Given the description of an element on the screen output the (x, y) to click on. 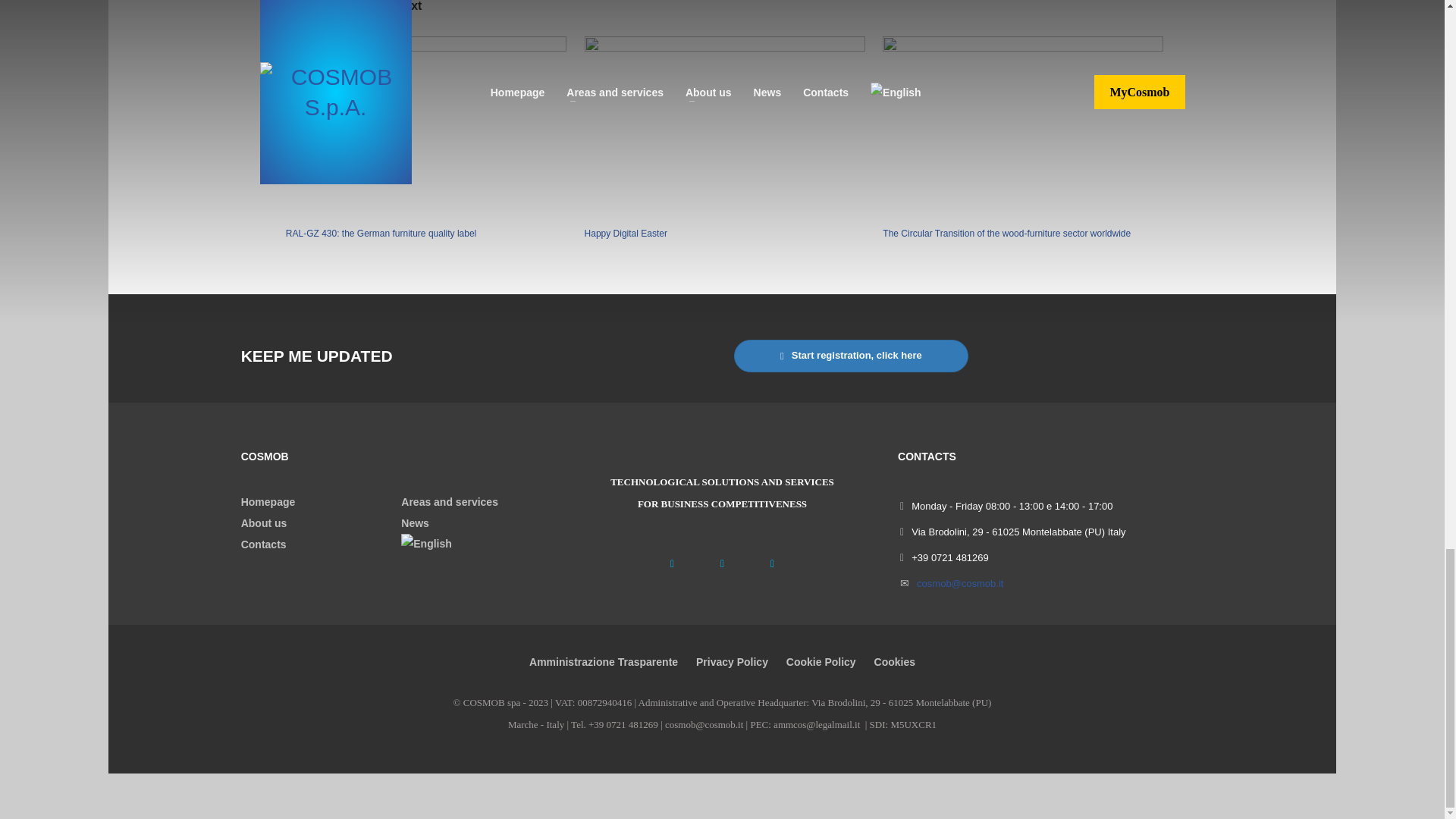
Click me (851, 355)
RAL 430 Mobile tedesco (425, 127)
WhatsApp Image 2021-04-01 at 13.06.37 (724, 127)
